Given the description of an element on the screen output the (x, y) to click on. 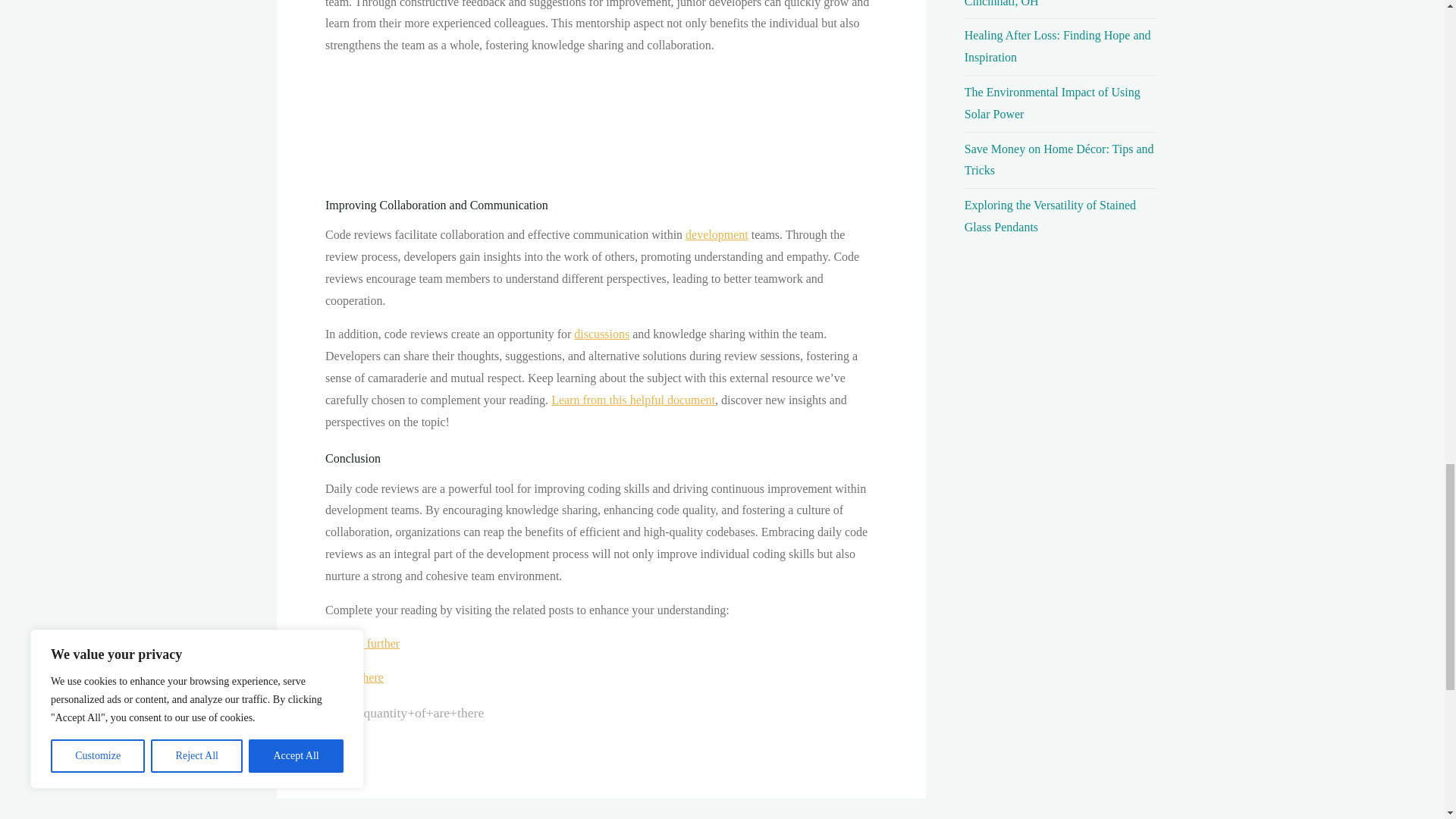
Learn from this helpful document (632, 399)
development (716, 234)
Access here (353, 676)
discussions (600, 333)
Explore further (361, 643)
